Given the description of an element on the screen output the (x, y) to click on. 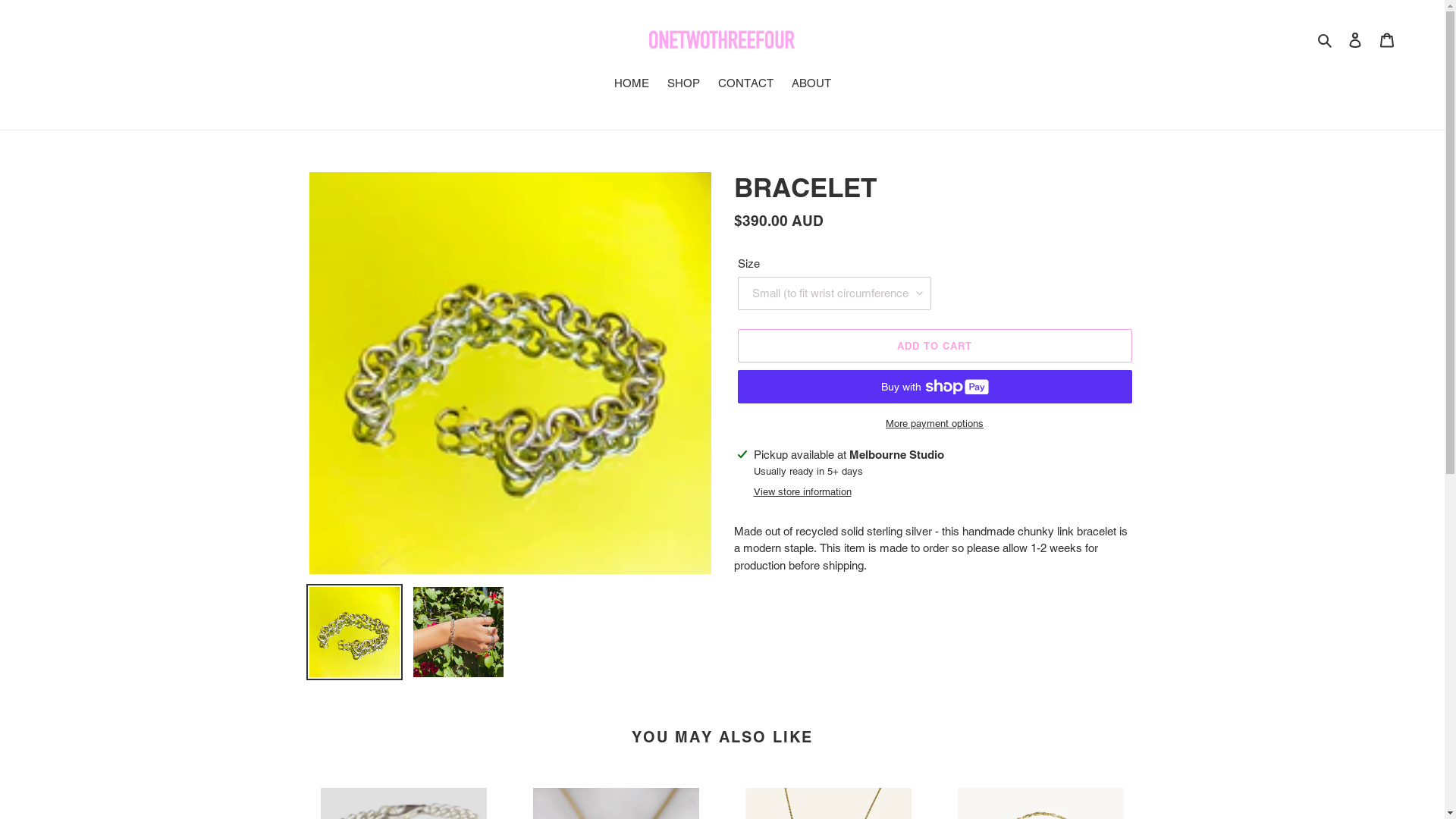
CONTACT Element type: text (744, 84)
More payment options Element type: text (934, 423)
SHOP Element type: text (683, 84)
View store information Element type: text (802, 491)
Log in Element type: text (1355, 39)
HOME Element type: text (631, 84)
Search Element type: text (1325, 39)
ADD TO CART Element type: text (934, 345)
ABOUT Element type: text (811, 84)
Cart Element type: text (1386, 39)
